Given the description of an element on the screen output the (x, y) to click on. 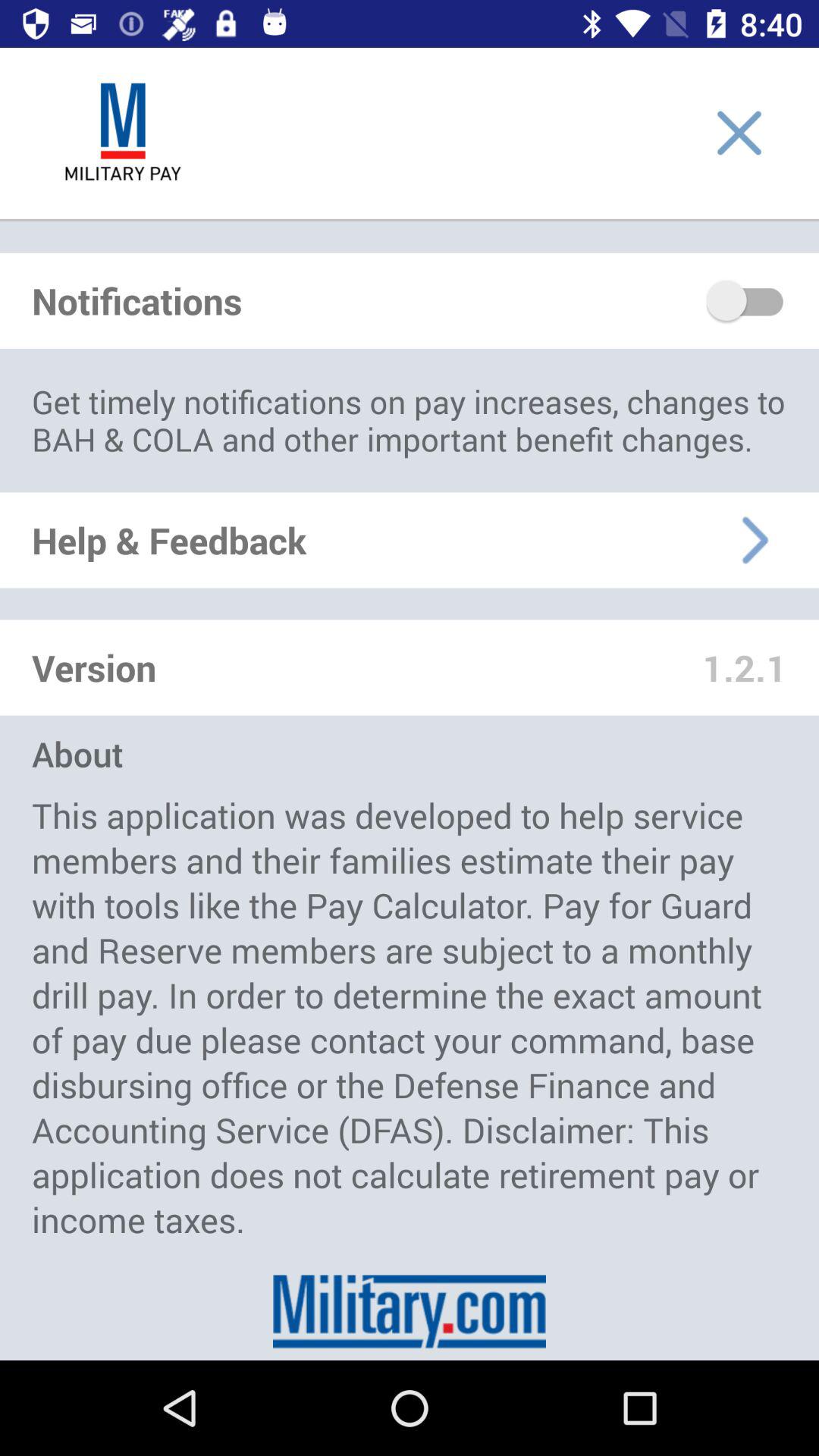
click to the notifications (746, 300)
